Given the description of an element on the screen output the (x, y) to click on. 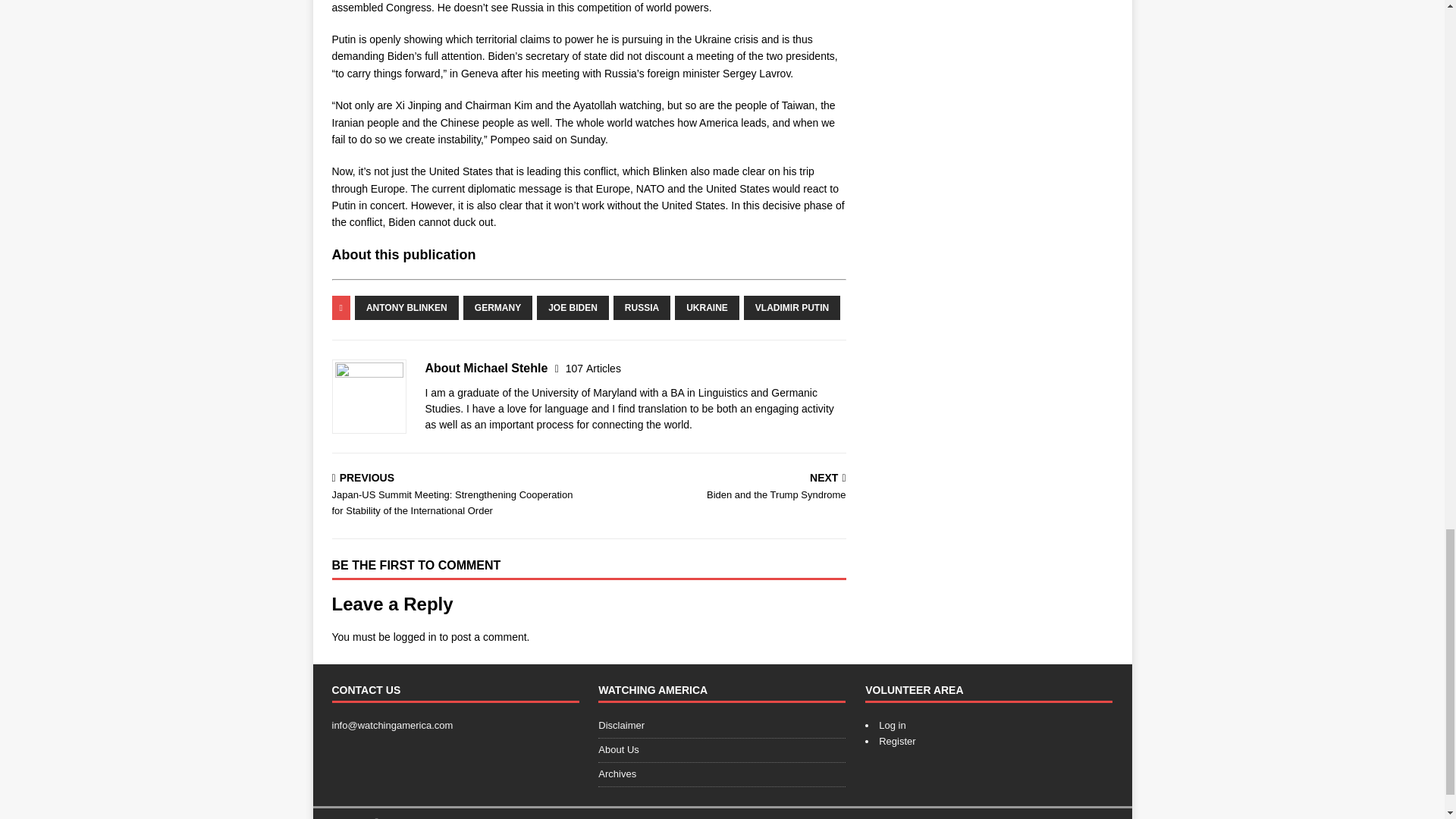
VLADIMIR PUTIN (792, 307)
Log in (892, 725)
More articles written by Michael Stehle' (593, 368)
107 Articles (593, 368)
RUSSIA (640, 307)
JOE BIDEN (572, 307)
UKRAINE (720, 487)
logged in (707, 307)
GERMANY (414, 636)
Register (497, 307)
ANTONY BLINKEN (897, 740)
About Us (406, 307)
Disclaimer (721, 750)
